Given the description of an element on the screen output the (x, y) to click on. 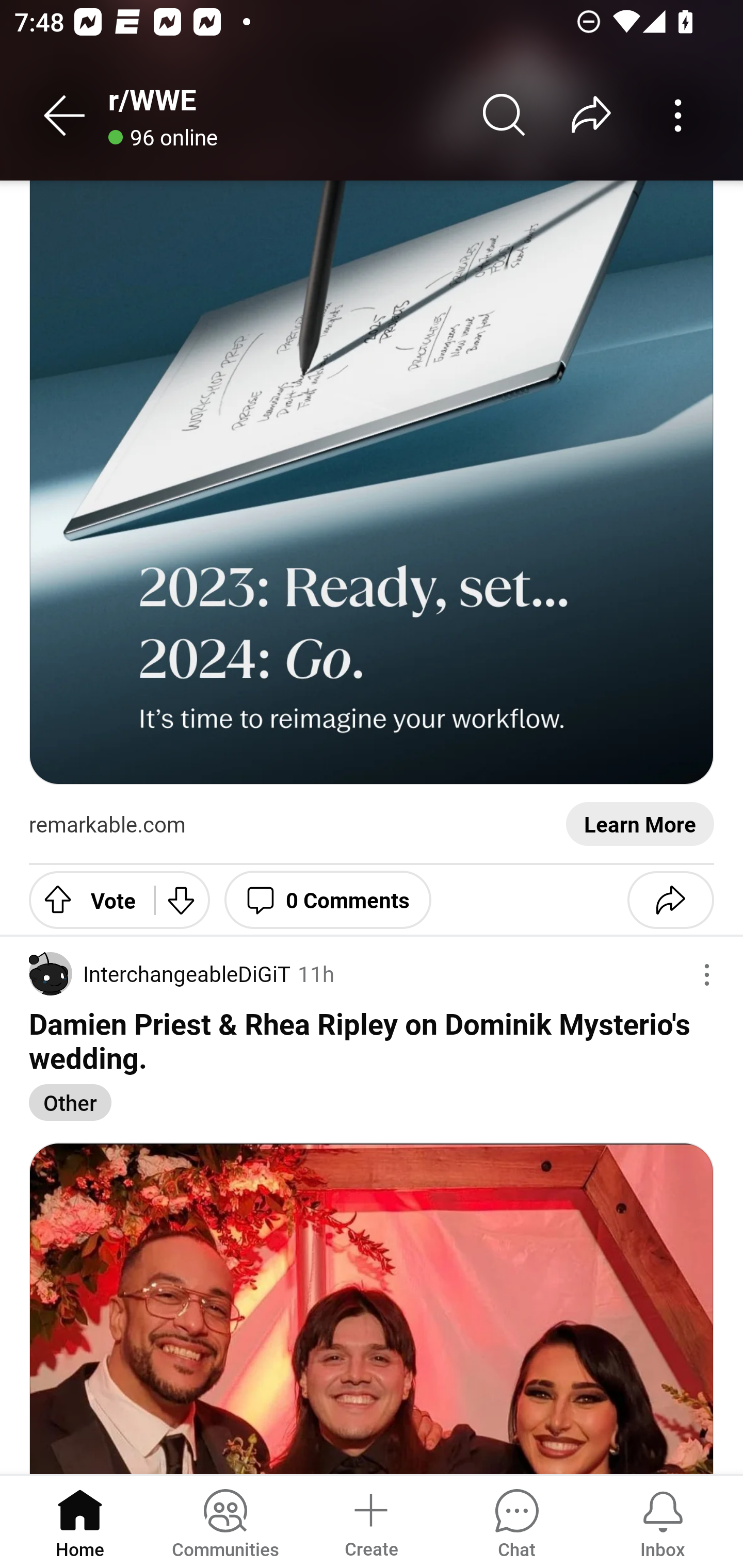
Back (64, 115)
Search r/﻿WWE (504, 115)
Share r/﻿WWE (591, 115)
More community actions (677, 115)
Image (371, 482)
remarkable.com (106, 825)
Learn More (640, 825)
Upvote Vote (83, 899)
Downvote (181, 899)
0 Comments (327, 899)
Share (670, 899)
Author InterchangeableDiGiT (159, 974)
Other (70, 1102)
Image (371, 1308)
Home (80, 1520)
Communities (225, 1520)
Create a post Create (370, 1520)
Chat (516, 1520)
Inbox (662, 1520)
